Given the description of an element on the screen output the (x, y) to click on. 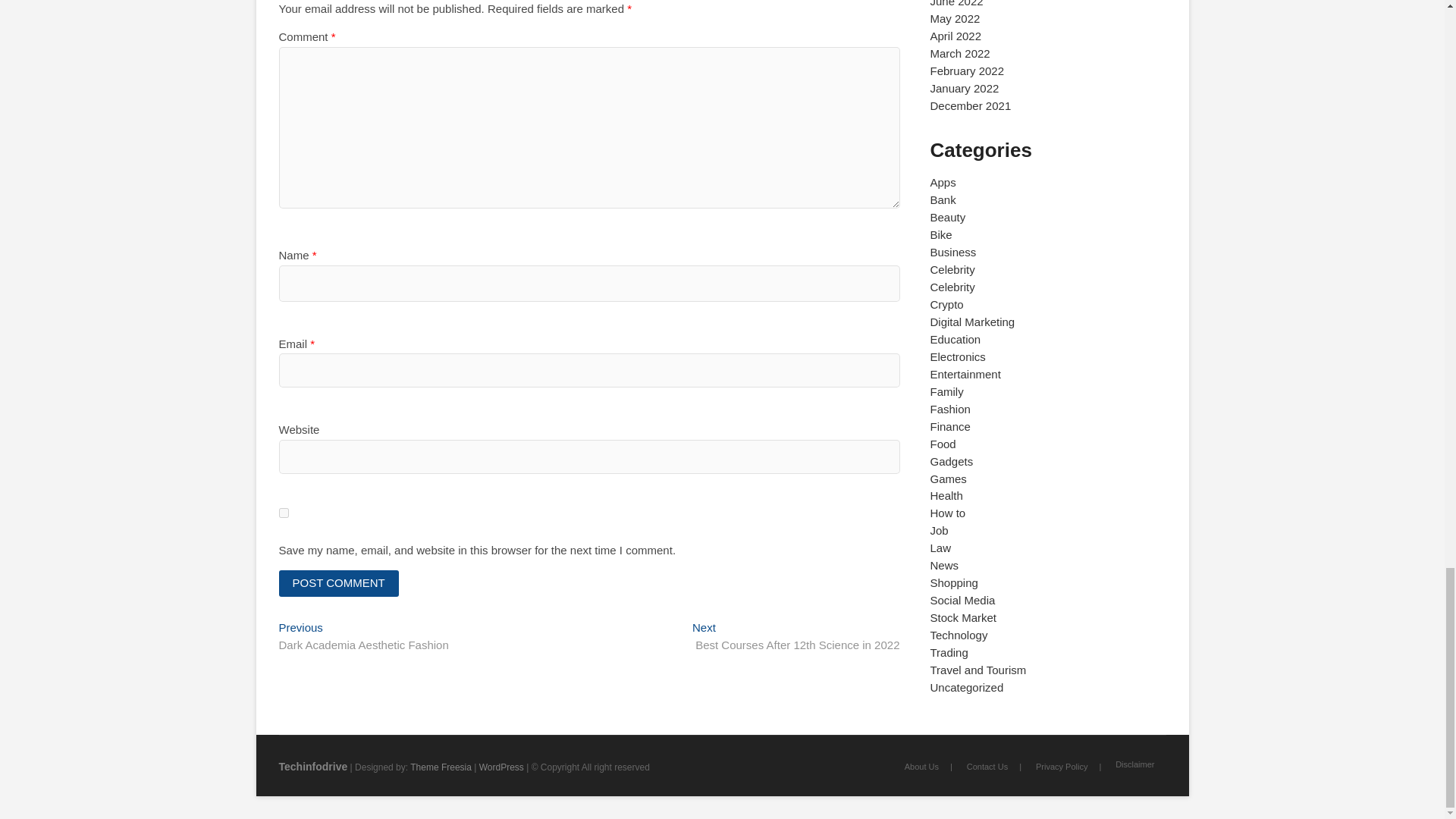
Theme Freesia (440, 767)
Post Comment (338, 583)
Techinfodrive (313, 766)
Post Comment (338, 583)
WordPress (501, 767)
yes (796, 637)
